Given the description of an element on the screen output the (x, y) to click on. 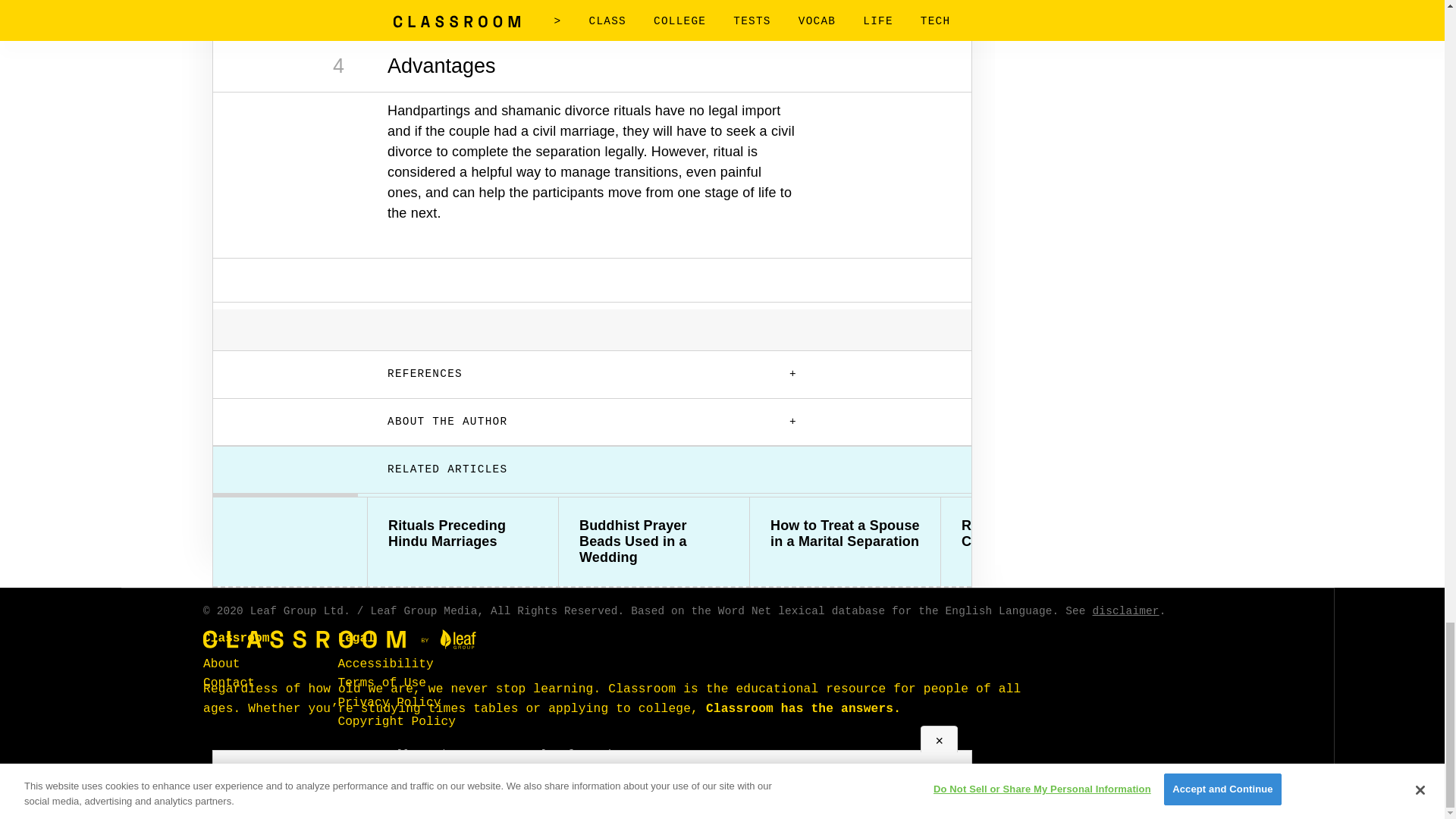
Accessibility (384, 663)
Buddhist Prayer Beads Used in a Wedding (654, 541)
Contact (228, 683)
Rituals Preceding Hindu Marriages (462, 533)
Privacy Policy (389, 702)
Islamic Beliefs on Marriage (1227, 533)
Terms of Use (381, 683)
Religious Beliefs on Cohabitation (1035, 533)
How to Treat a Spouse in a Marital Separation (844, 533)
About (221, 663)
